Given the description of an element on the screen output the (x, y) to click on. 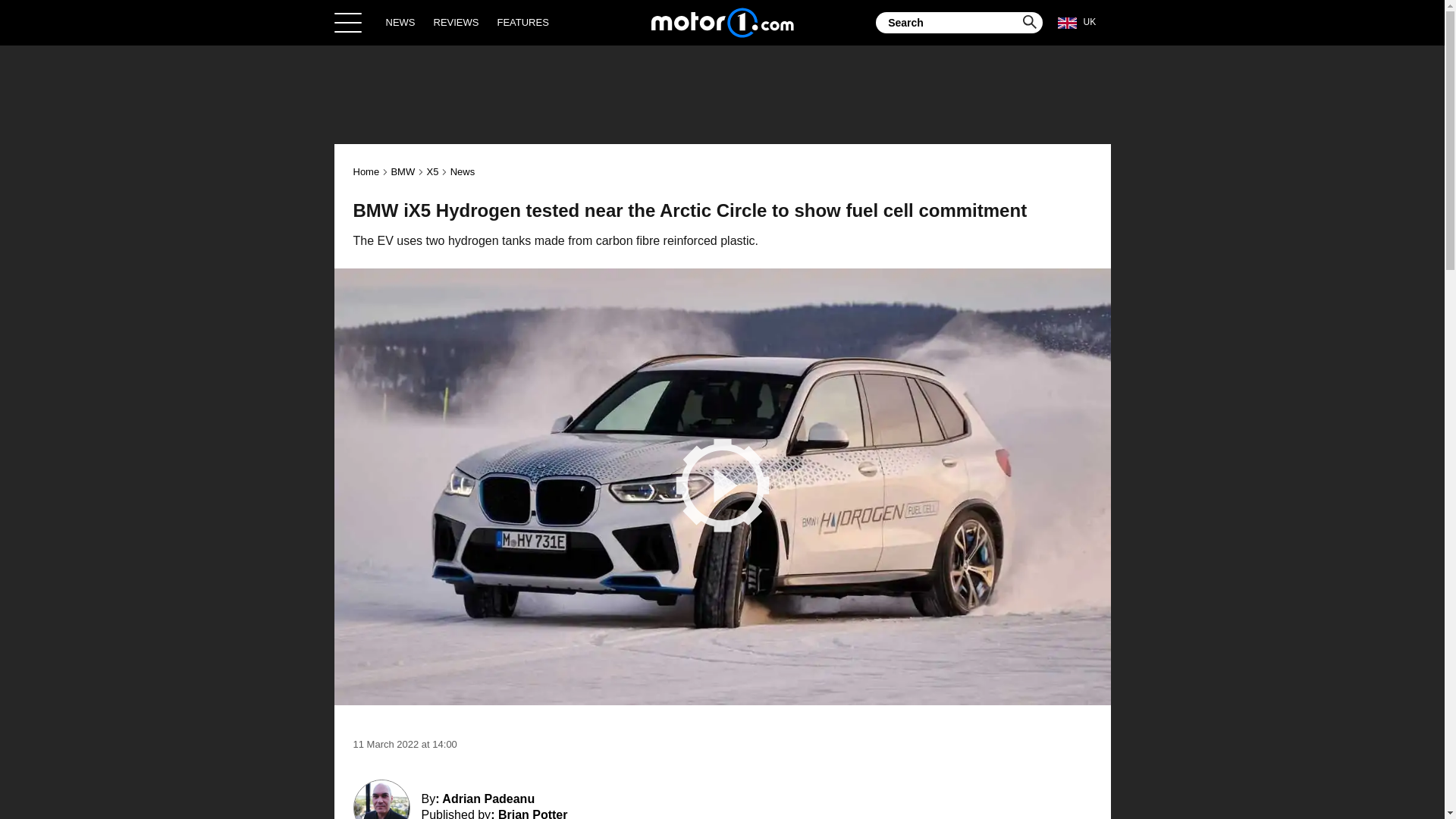
Home (721, 22)
X5 (432, 171)
NEWS (399, 22)
Home (366, 171)
Brian Potter (532, 813)
REVIEWS (456, 22)
FEATURES (522, 22)
BMW (402, 171)
News (462, 171)
